Given the description of an element on the screen output the (x, y) to click on. 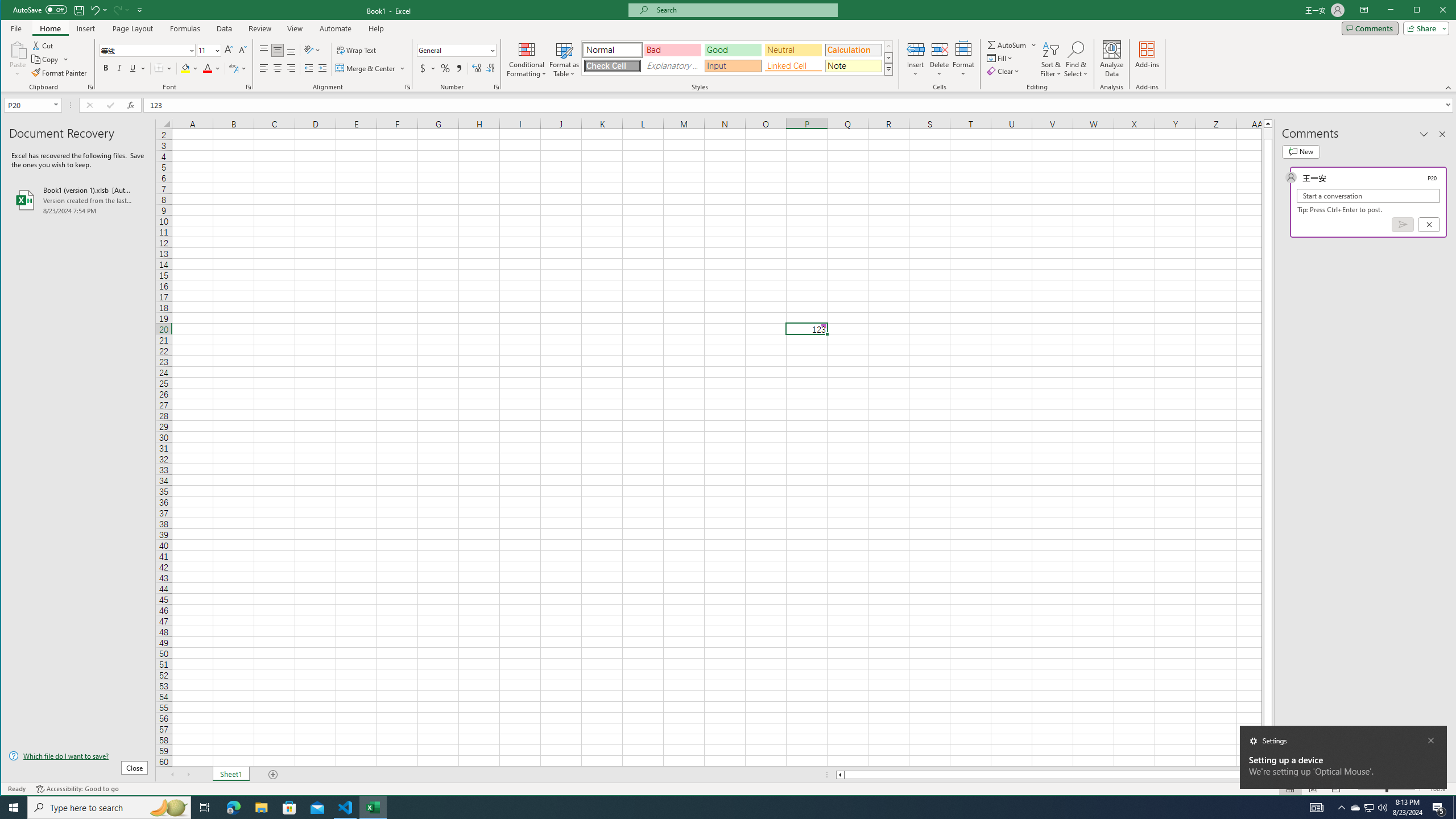
Share (1423, 27)
Text Box (735, 59)
Task Pane Options (1423, 133)
Insert Statistic Chart (371, 57)
Sheet1 (230, 774)
Pictures (134, 59)
Excel - 1 running window (373, 807)
